Given the description of an element on the screen output the (x, y) to click on. 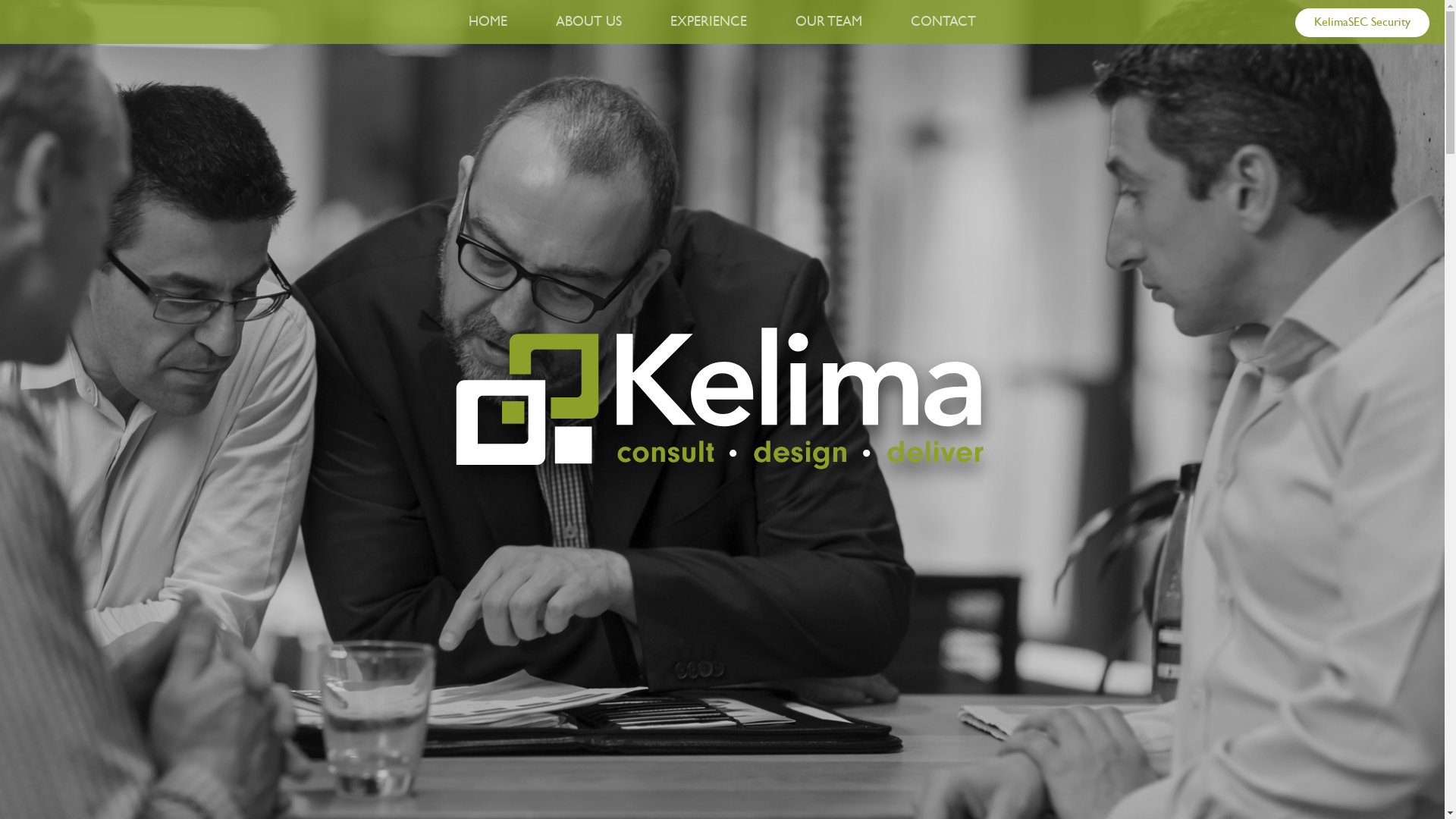
OUR TEAM Element type: text (828, 21)
CONTACT Element type: text (943, 21)
EXPERIENCE Element type: text (708, 21)
HOME Element type: text (487, 21)
ABOUT US Element type: text (588, 21)
KelimaSEC Security Element type: text (1362, 22)
